Given the description of an element on the screen output the (x, y) to click on. 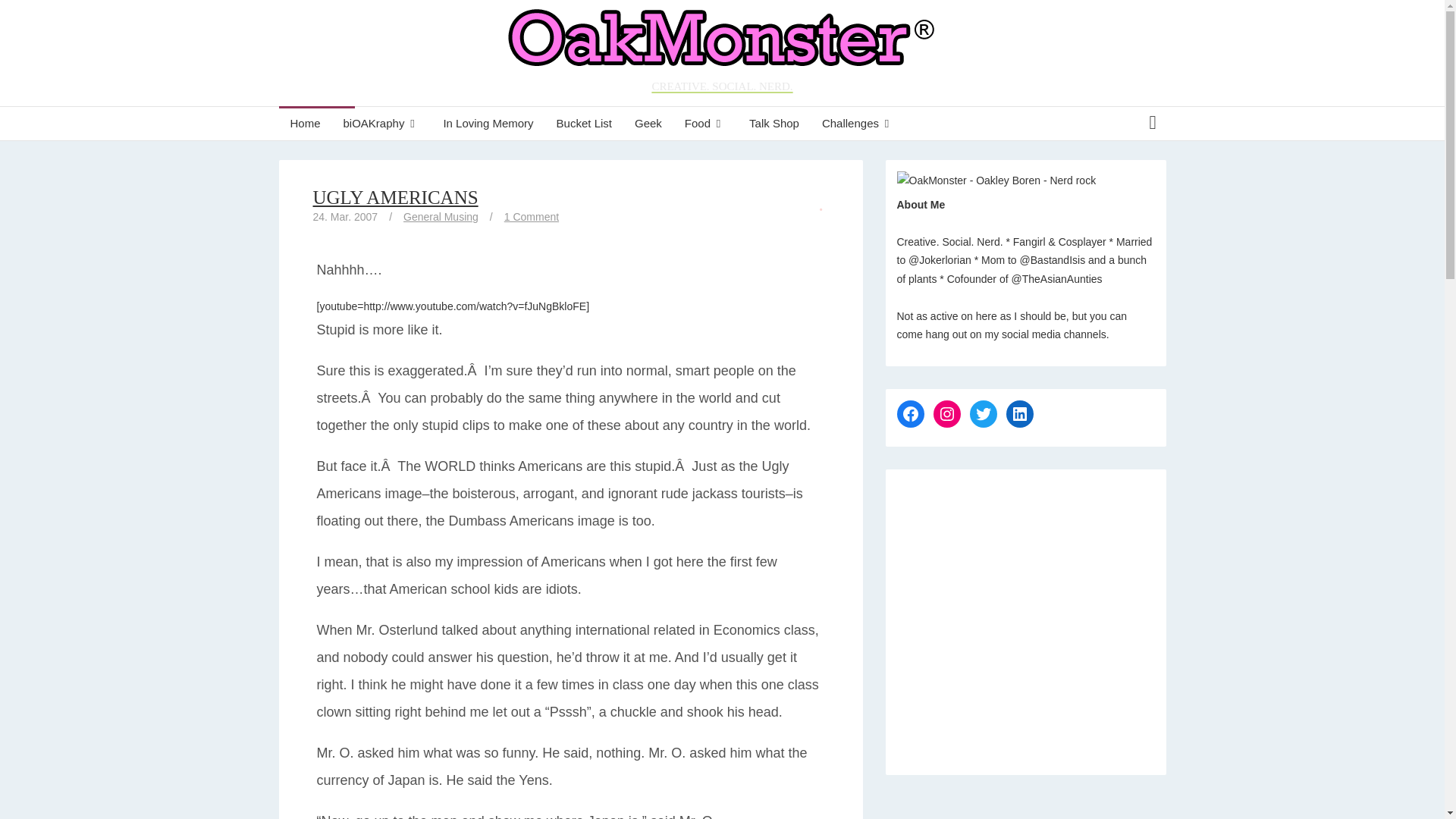
Food (705, 123)
Oakley remembers her late mother (487, 123)
CREATIVE. SOCIAL. NERD. (722, 53)
Bucket List (583, 123)
Geek (647, 123)
biOAKraphy (381, 123)
Talk Shop (774, 123)
View all posts in General Musing (441, 216)
Challenges (857, 123)
General Musing (441, 216)
UGLY AMERICANS (395, 197)
Spotify Embed: Office Radio (1025, 613)
In Loving Memory (487, 123)
Home (305, 123)
1 Comment (531, 216)
